Given the description of an element on the screen output the (x, y) to click on. 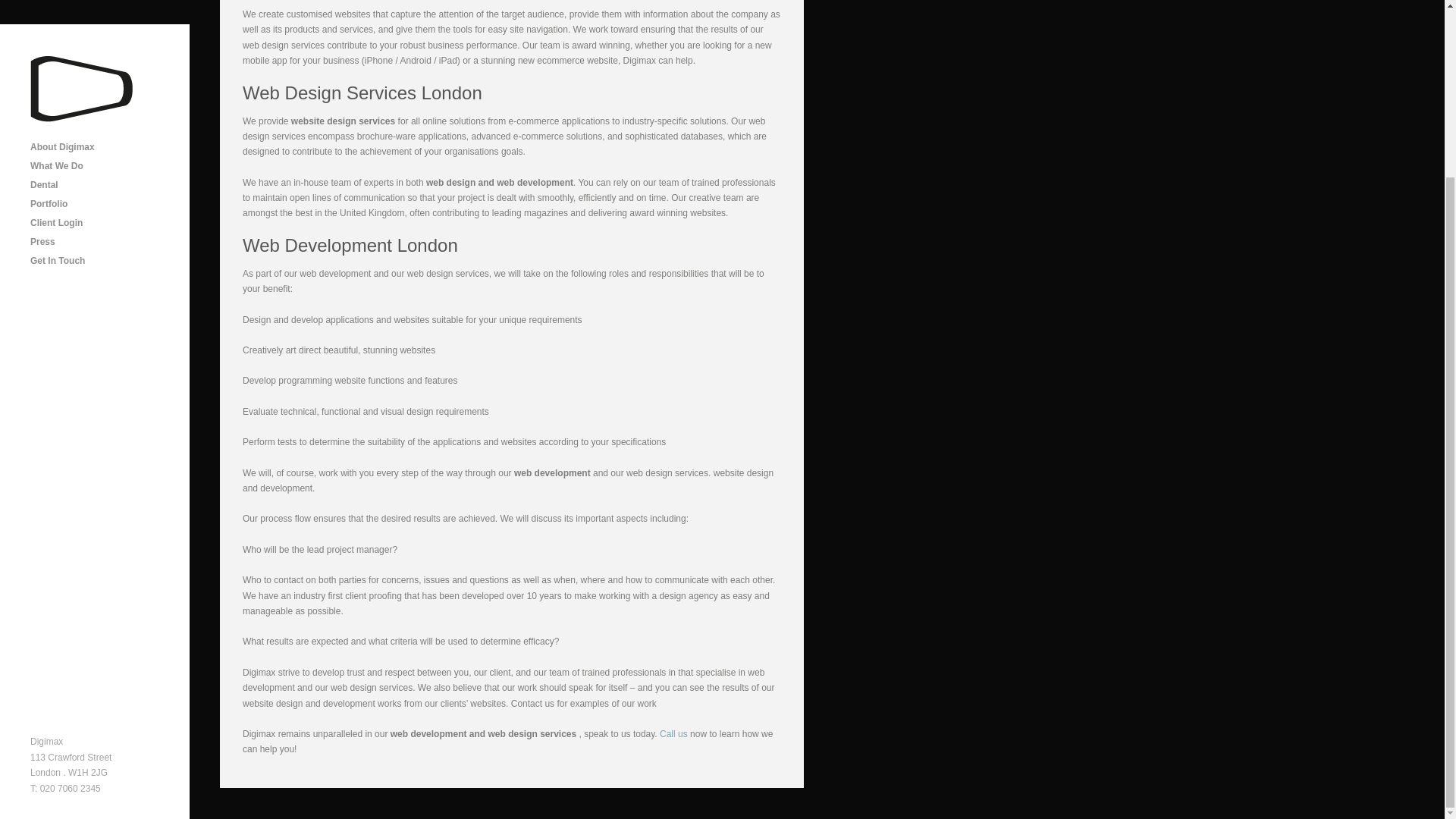
Call us (673, 733)
Client Login (96, 8)
Get In Touch (96, 45)
Press (96, 26)
